Given the description of an element on the screen output the (x, y) to click on. 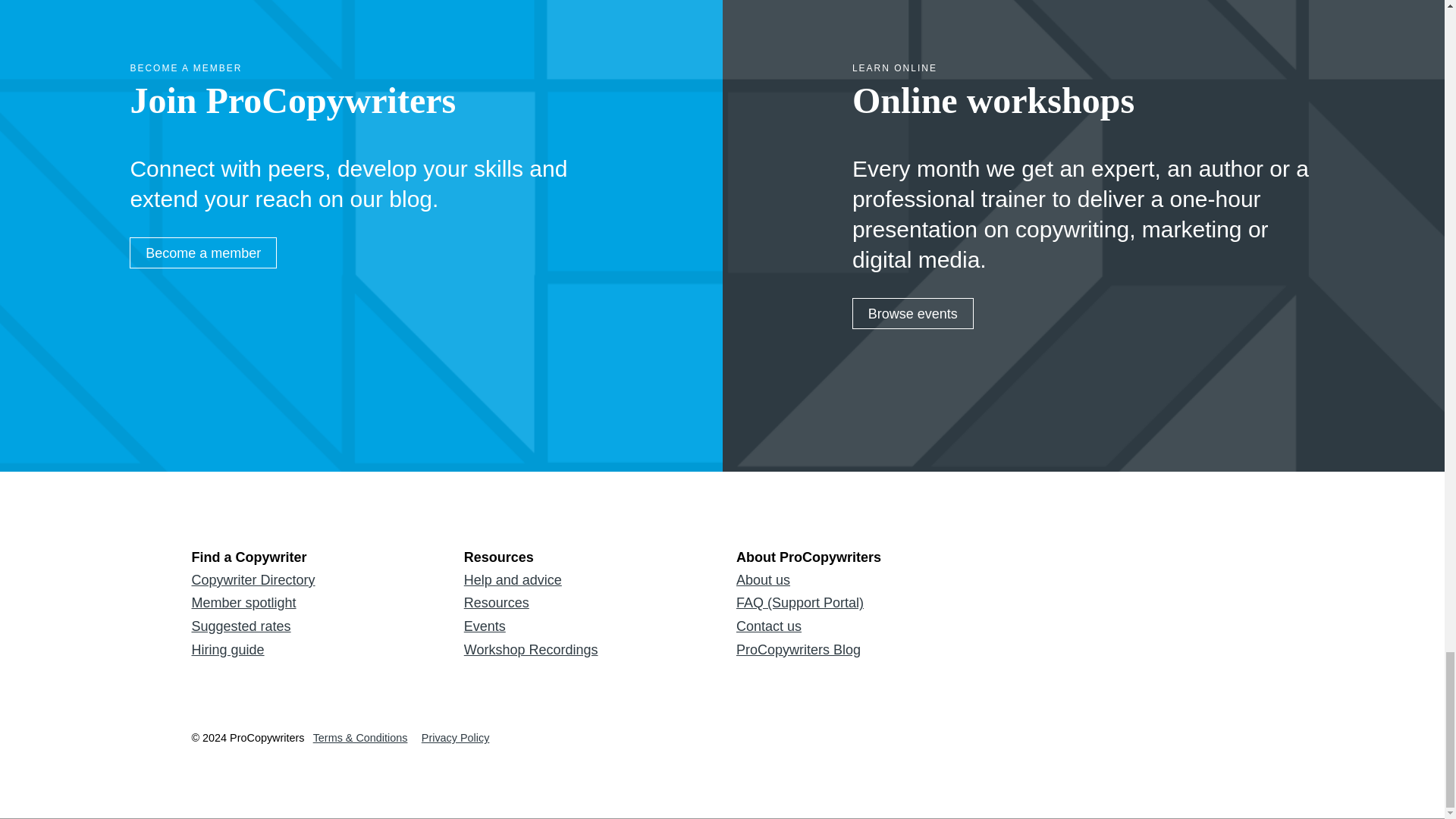
Hiring guide (312, 649)
Browse events (912, 314)
Privacy Policy (455, 737)
Workshop Recordings (585, 649)
Help and advice (585, 580)
Contact us (857, 626)
Resources (585, 603)
Suggested rates (312, 626)
Copywriter Directory (312, 580)
About us (857, 580)
Become a member (202, 253)
Events (585, 626)
Member spotlight (312, 603)
ProCopywriters Blog (857, 649)
